Given the description of an element on the screen output the (x, y) to click on. 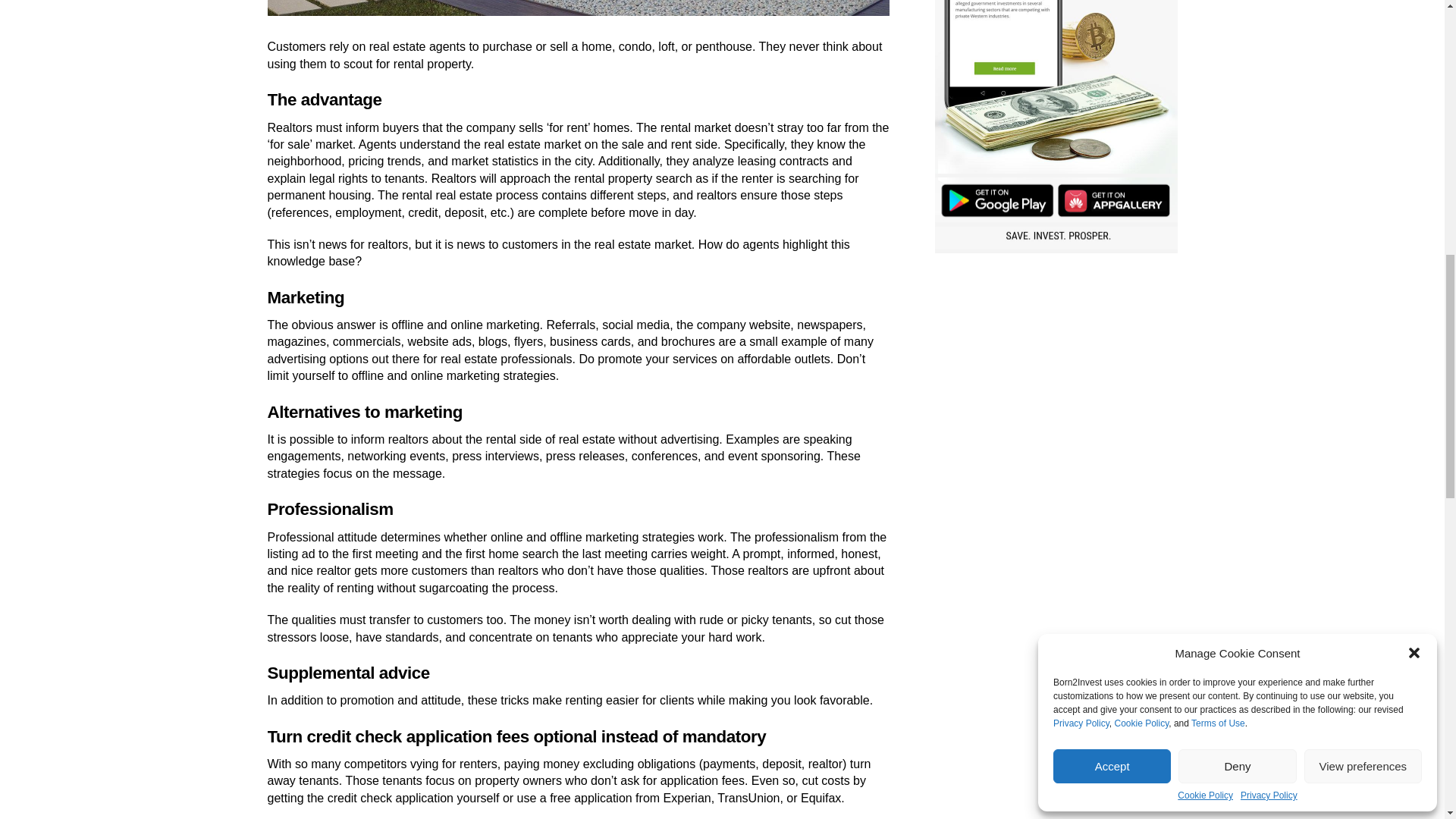
Advertisement (1055, 371)
